Given the description of an element on the screen output the (x, y) to click on. 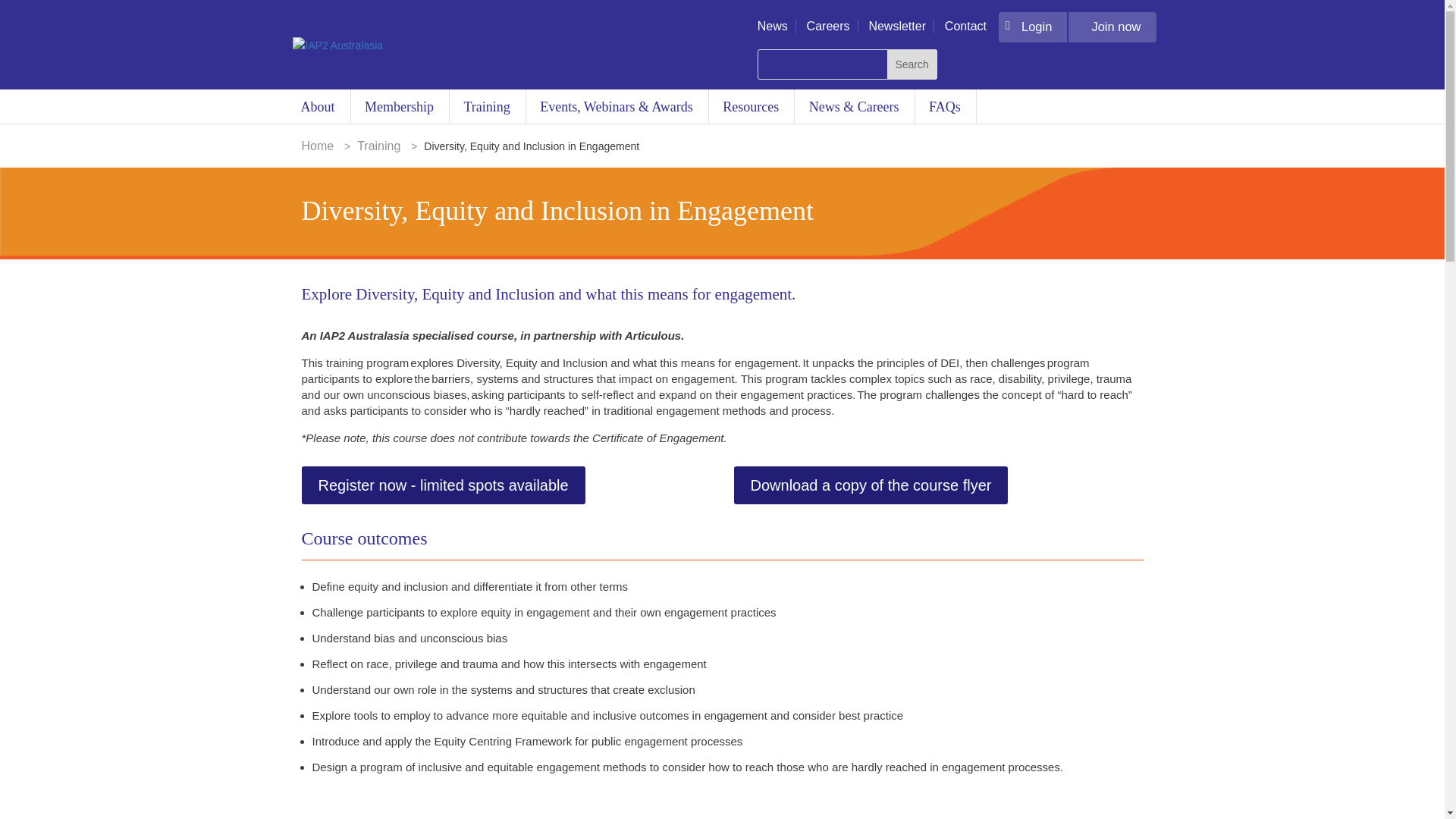
Join now Element type: text (1111, 27)
Events, Webinars & Awards Element type: text (617, 106)
Search Element type: text (912, 64)
Resources Element type: text (751, 106)
Login Element type: text (1032, 27)
Careers Element type: text (828, 25)
Contact Element type: text (965, 25)
Newsletter Element type: text (896, 25)
Training Element type: text (378, 145)
Register now - limited spots available Element type: text (443, 485)
Training Element type: text (487, 106)
FAQs Element type: text (945, 106)
News & Careers Element type: text (855, 106)
Download a copy of the course flyer Element type: text (871, 485)
News Element type: text (772, 25)
Membership Element type: text (400, 106)
About Element type: text (318, 106)
Home Element type: text (317, 145)
